Given the description of an element on the screen output the (x, y) to click on. 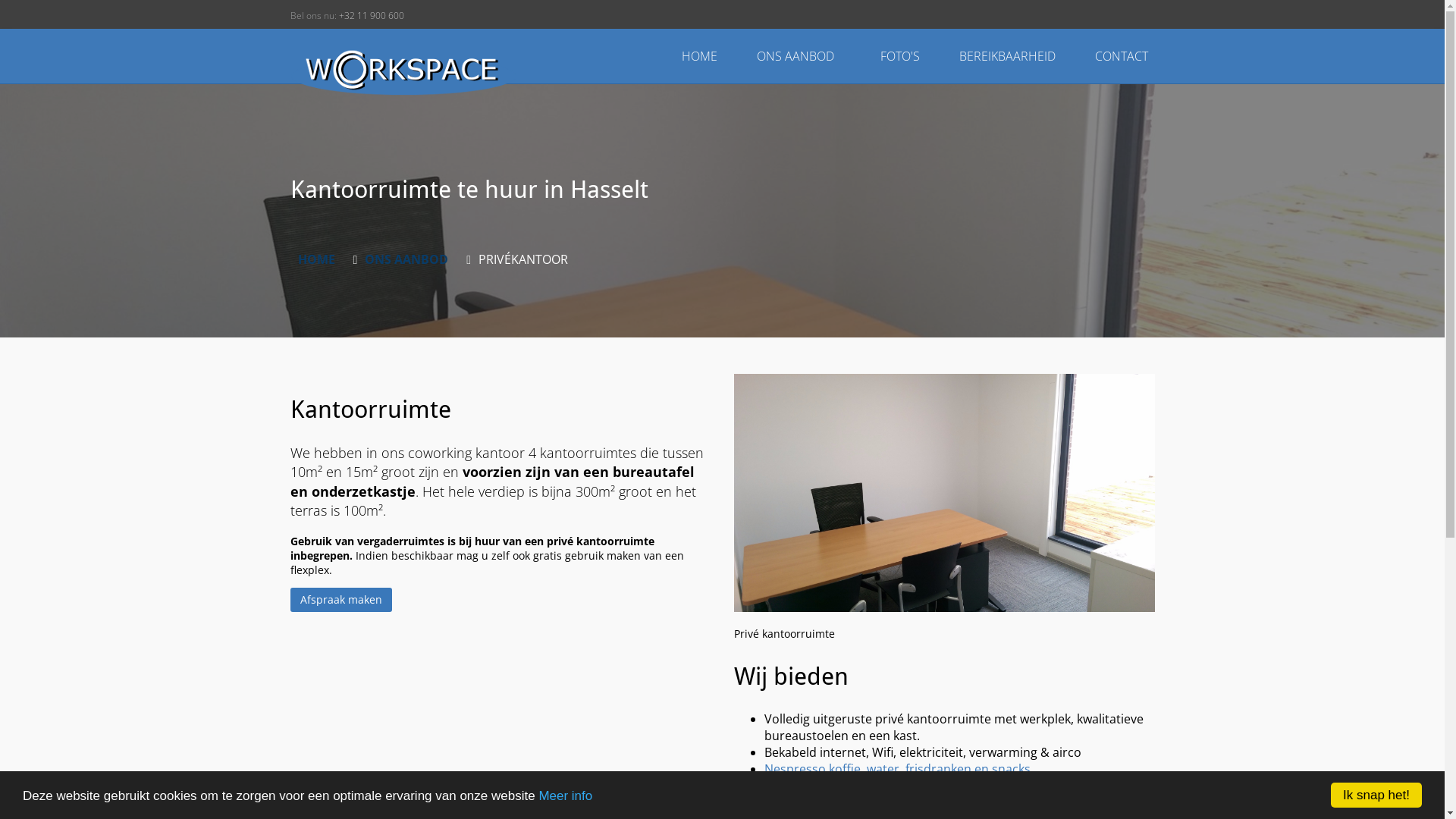
ONS AANBOD Element type: text (406, 259)
Ik snap het! Element type: text (1375, 794)
FOTO'S Element type: text (900, 55)
CONTACT Element type: text (1121, 55)
+32 11 900 600 Element type: text (370, 15)
ONS AANBOD Element type: text (800, 55)
HOME Element type: text (315, 259)
HOME Element type: text (699, 55)
Nespresso koffie, water, frisdranken en snacks Element type: text (897, 768)
BEREIKBAARHEID Element type: text (1007, 55)
Meer info Element type: text (565, 795)
Afspraak maken Element type: text (340, 599)
